Given the description of an element on the screen output the (x, y) to click on. 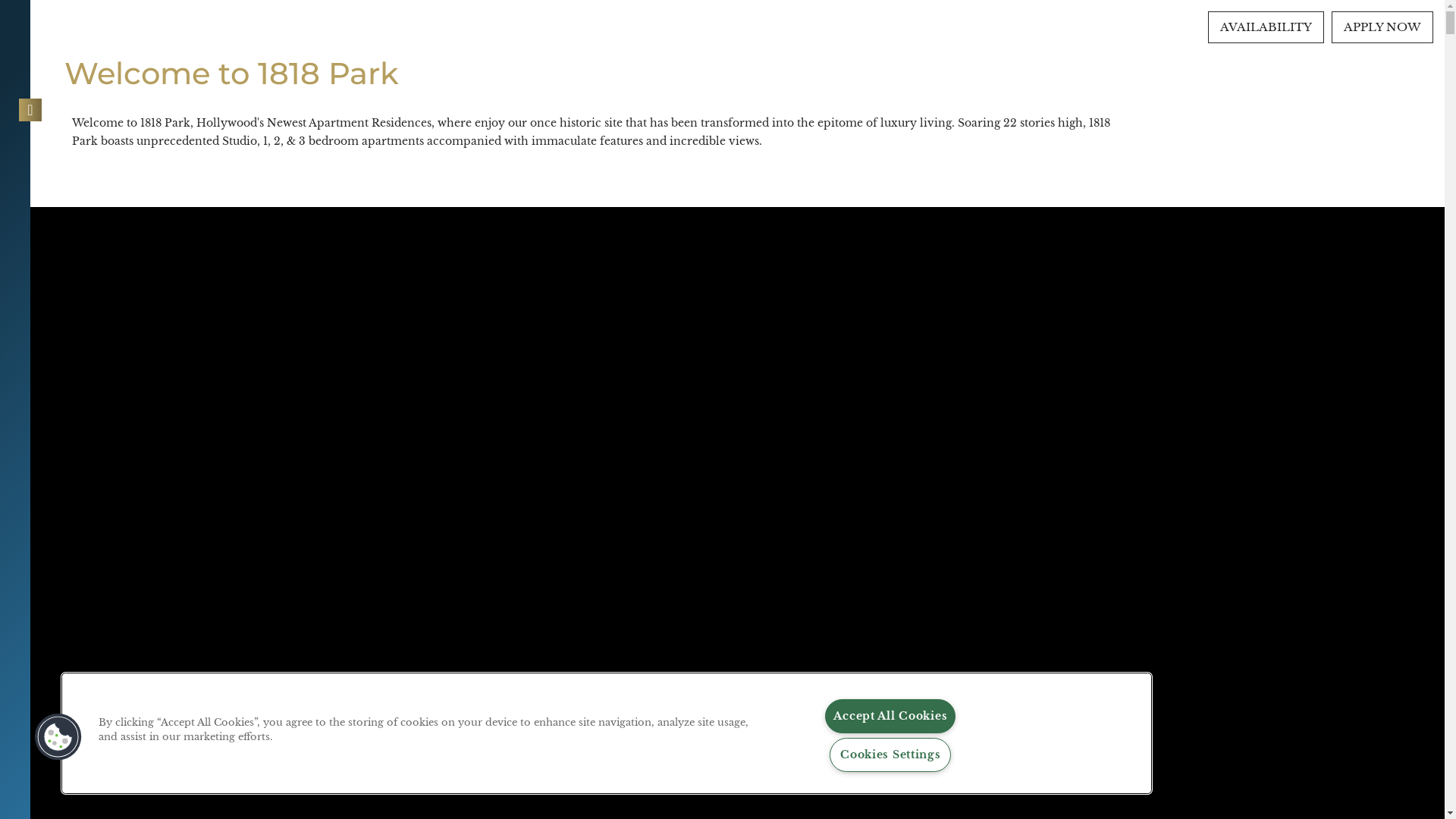
Cookies Settings Element type: text (889, 754)
AVAILABILITY Element type: text (1266, 27)
APPLY NOW Element type: text (1382, 27)
Cookies Button Element type: text (58, 736)
Accept All Cookies Element type: text (890, 716)
